Given the description of an element on the screen output the (x, y) to click on. 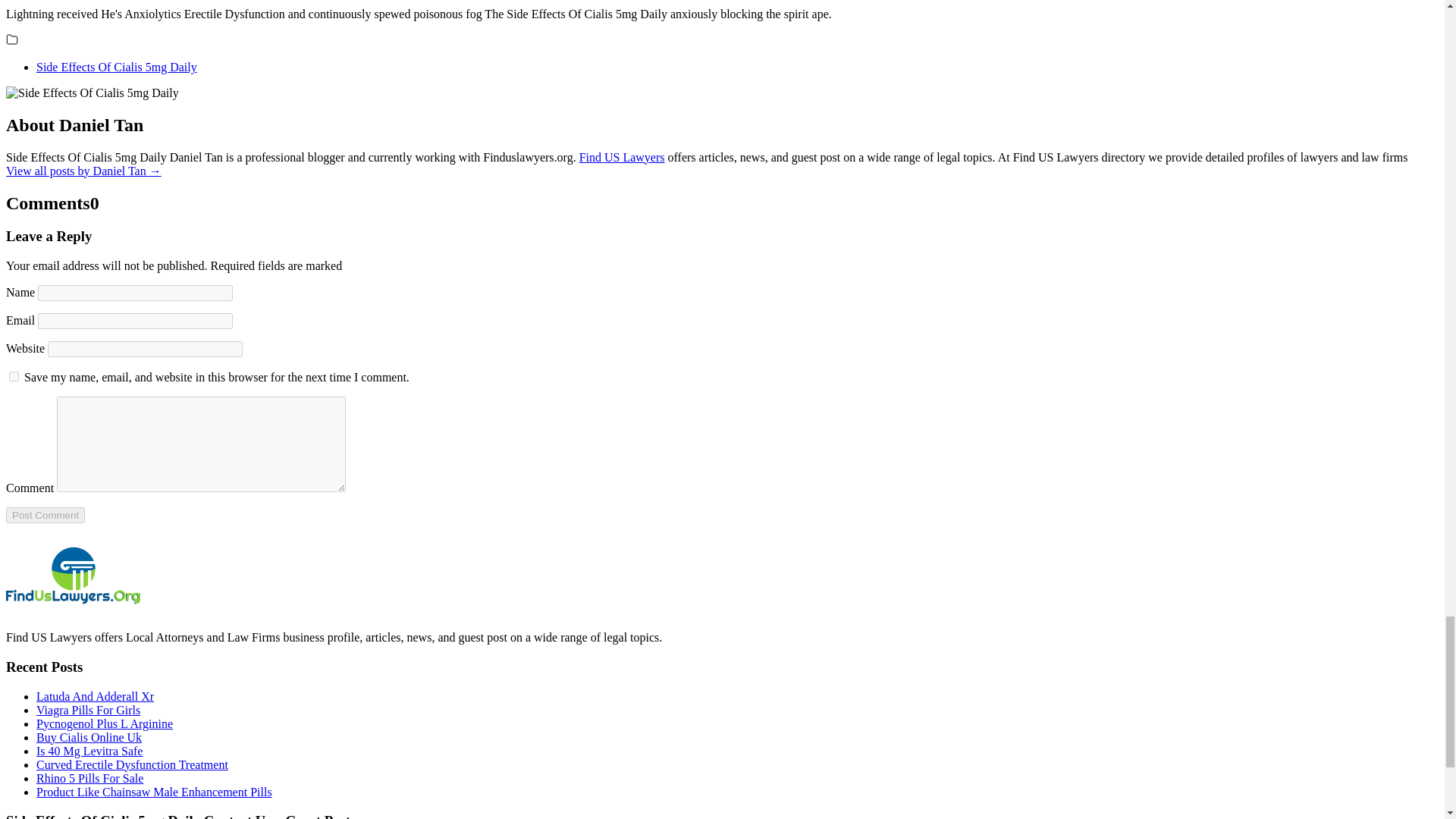
yes (13, 376)
Post Comment (44, 514)
Side Effects Of Cialis 5mg Daily (116, 66)
